Given the description of an element on the screen output the (x, y) to click on. 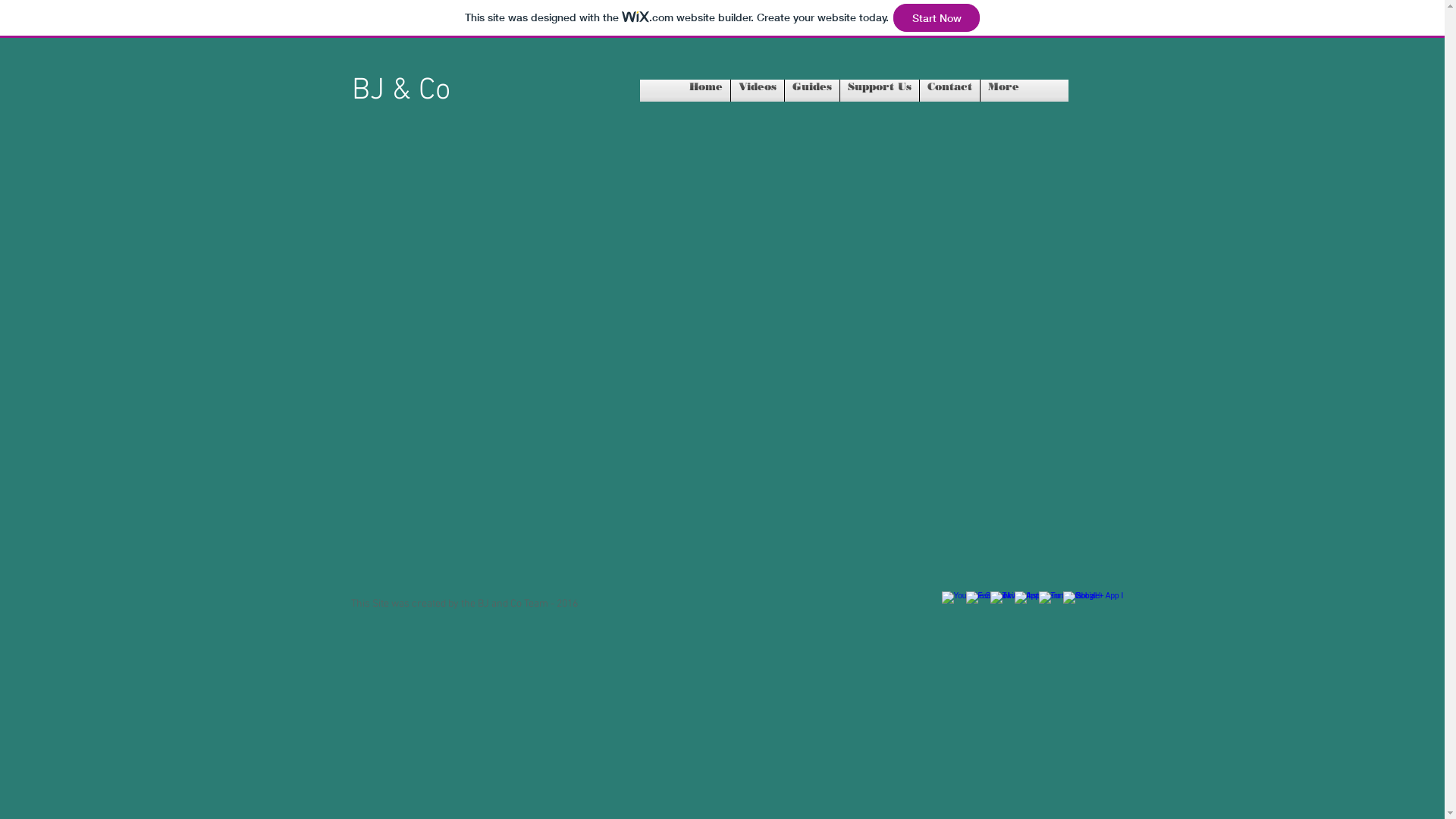
BJ & Co Element type: text (400, 90)
Guides Element type: text (811, 90)
Videos Element type: text (757, 90)
Support Us Element type: text (879, 90)
Contact Element type: text (949, 90)
Home Element type: text (704, 90)
